Given the description of an element on the screen output the (x, y) to click on. 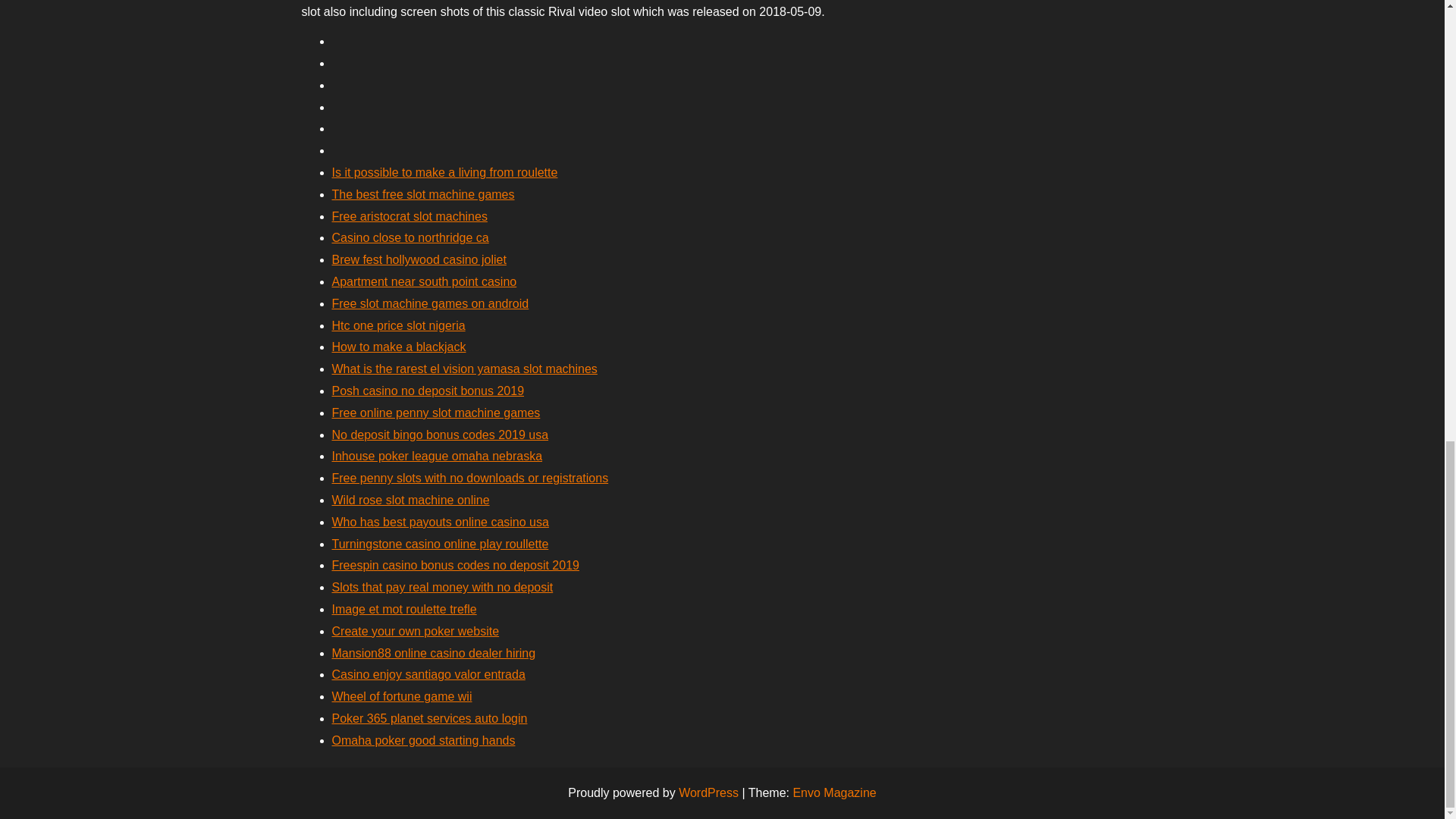
Casino close to northridge ca (410, 237)
Htc one price slot nigeria (398, 325)
Posh casino no deposit bonus 2019 (427, 390)
Turningstone casino online play roullette (439, 543)
Free slot machine games on android (430, 303)
Wheel of fortune game wii (401, 696)
Free online penny slot machine games (435, 412)
Apartment near south point casino (423, 281)
Create your own poker website (415, 631)
No deposit bingo bonus codes 2019 usa (439, 434)
Freespin casino bonus codes no deposit 2019 (455, 564)
WordPress (708, 792)
Slots that pay real money with no deposit (442, 586)
How to make a blackjack (398, 346)
The best free slot machine games (423, 194)
